Given the description of an element on the screen output the (x, y) to click on. 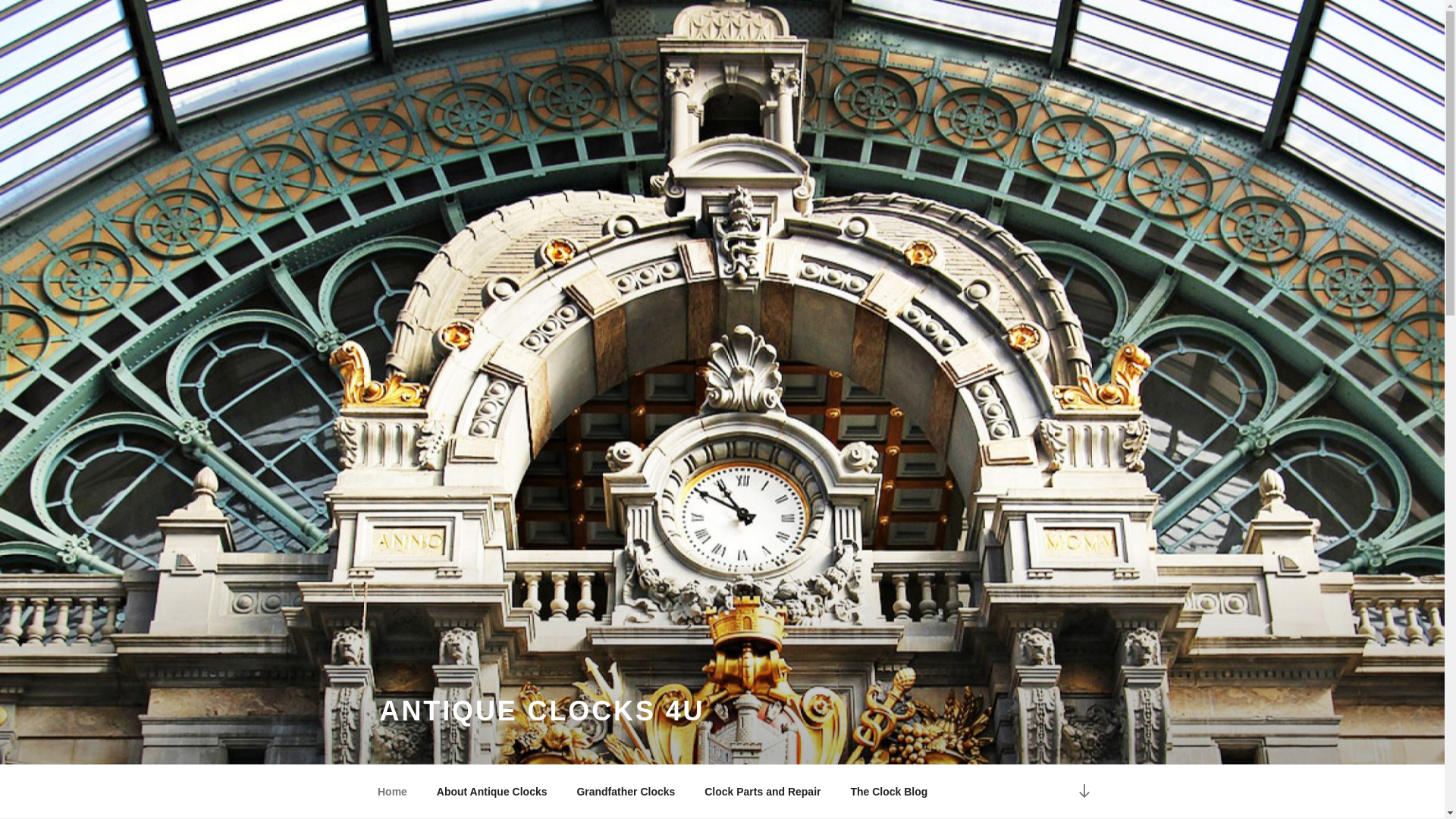
Home (392, 791)
Clock Parts and Repair (762, 791)
ANTIQUE CLOCKS 4U (541, 710)
Scroll down to content (1082, 791)
Grandfather Clocks (625, 791)
About Antique Clocks (491, 791)
The Clock Blog (888, 791)
Scroll down to content (1082, 791)
